Given the description of an element on the screen output the (x, y) to click on. 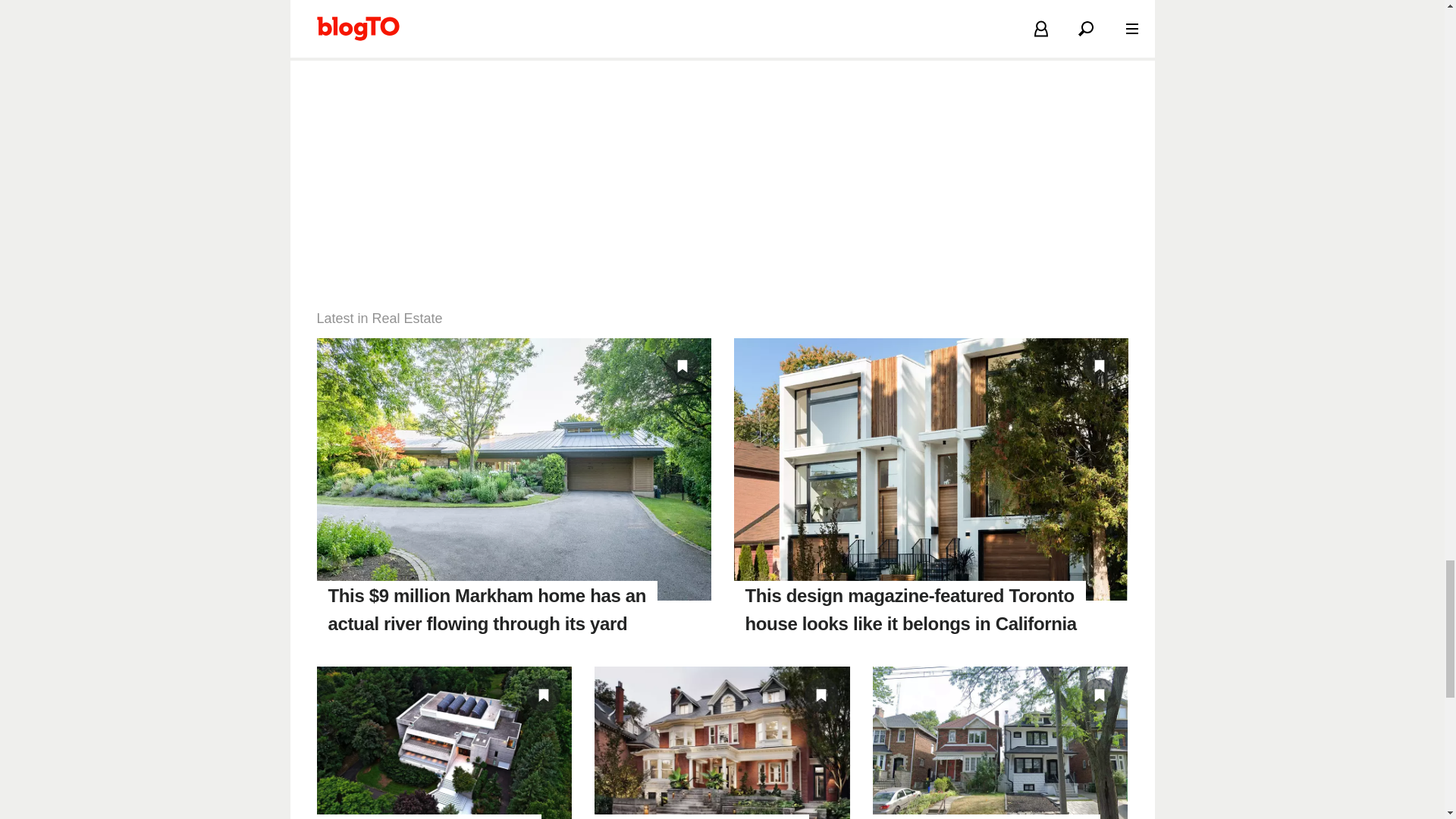
Subscribe (769, 11)
